Given the description of an element on the screen output the (x, y) to click on. 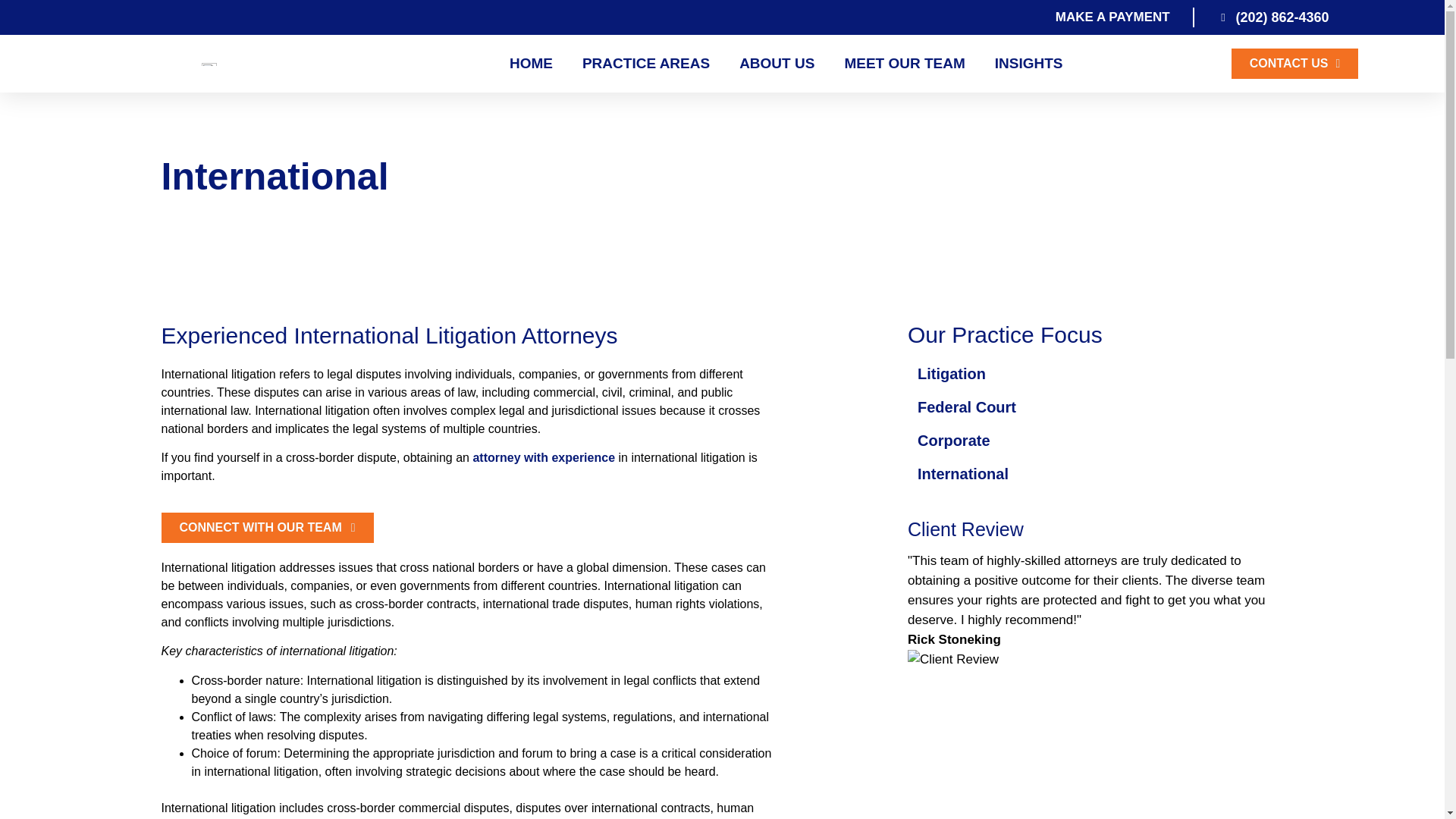
HOME (531, 63)
PRACTICE AREAS (645, 63)
INSIGHTS (1028, 63)
ABOUT US (776, 63)
MAKE A PAYMENT (1109, 17)
MEET OUR TEAM (904, 63)
